Given the description of an element on the screen output the (x, y) to click on. 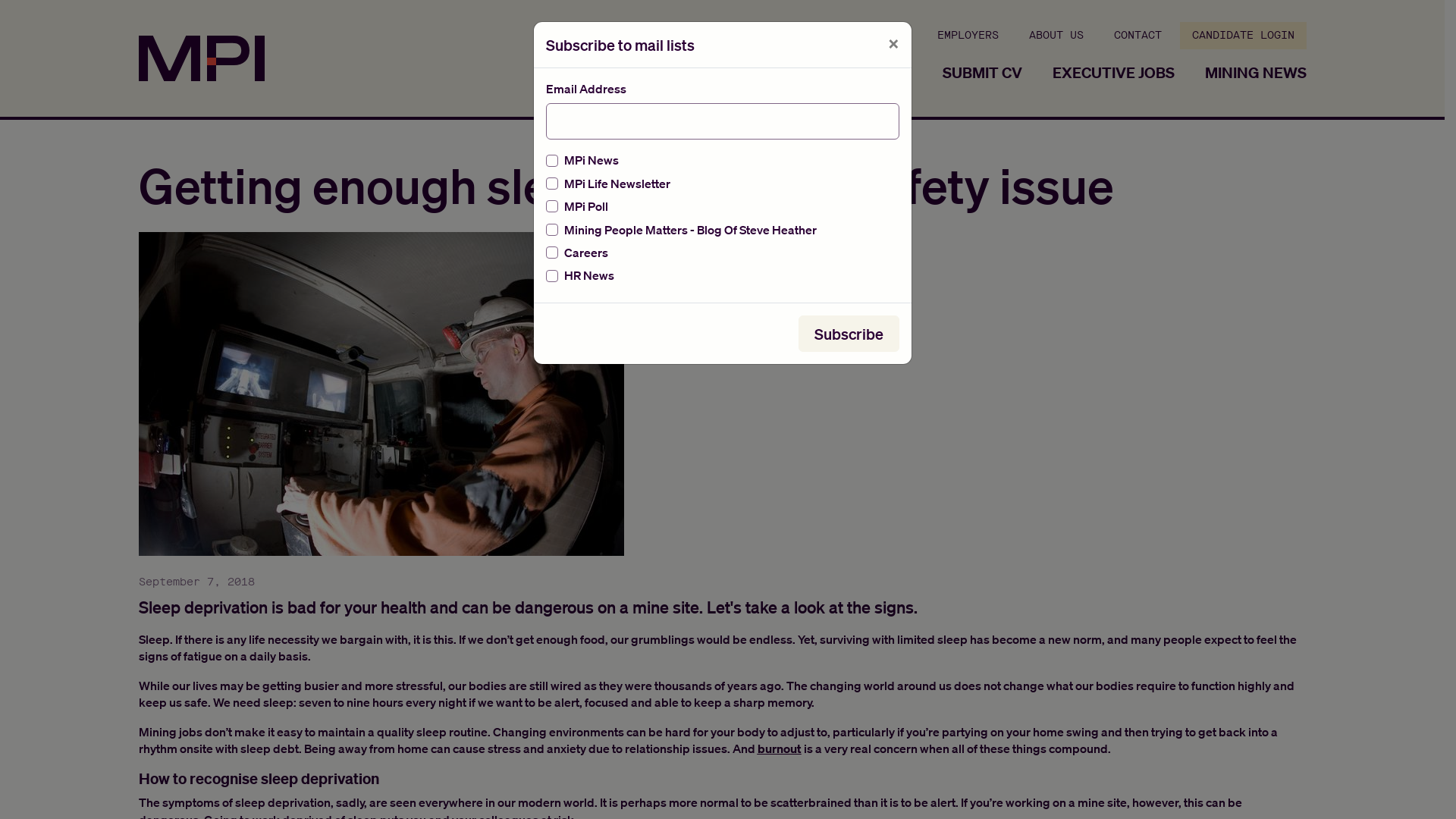
ABOUT US Element type: text (1055, 35)
burnout Element type: text (778, 748)
EXECUTIVE JOBS Element type: text (1113, 72)
SUBMIT CV Element type: text (981, 72)
MINING NEWS Element type: text (1248, 72)
JOB SEARCH Element type: text (866, 72)
CONTACT Element type: text (1137, 35)
EMPLOYERS Element type: text (967, 35)
CANDIDATE LOGIN Element type: text (1242, 35)
Subscribe Element type: text (847, 333)
